Given the description of an element on the screen output the (x, y) to click on. 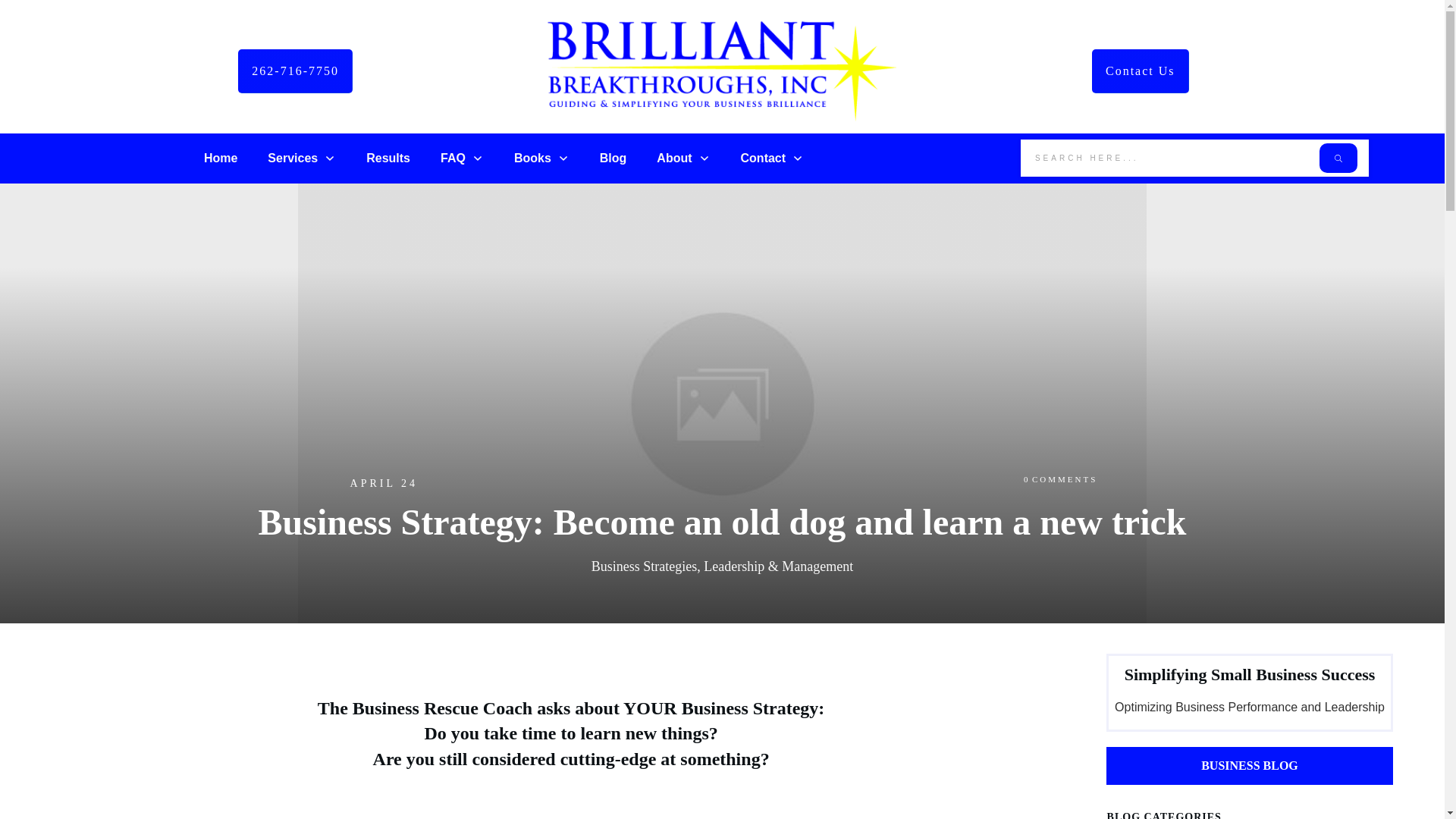
About (683, 158)
Home (220, 158)
Results (388, 158)
Blog (613, 158)
Books (541, 158)
262-716-7750 (295, 71)
Business Strategies (644, 566)
FAQ (462, 158)
Services (301, 158)
Business Strategies (644, 566)
